Given the description of an element on the screen output the (x, y) to click on. 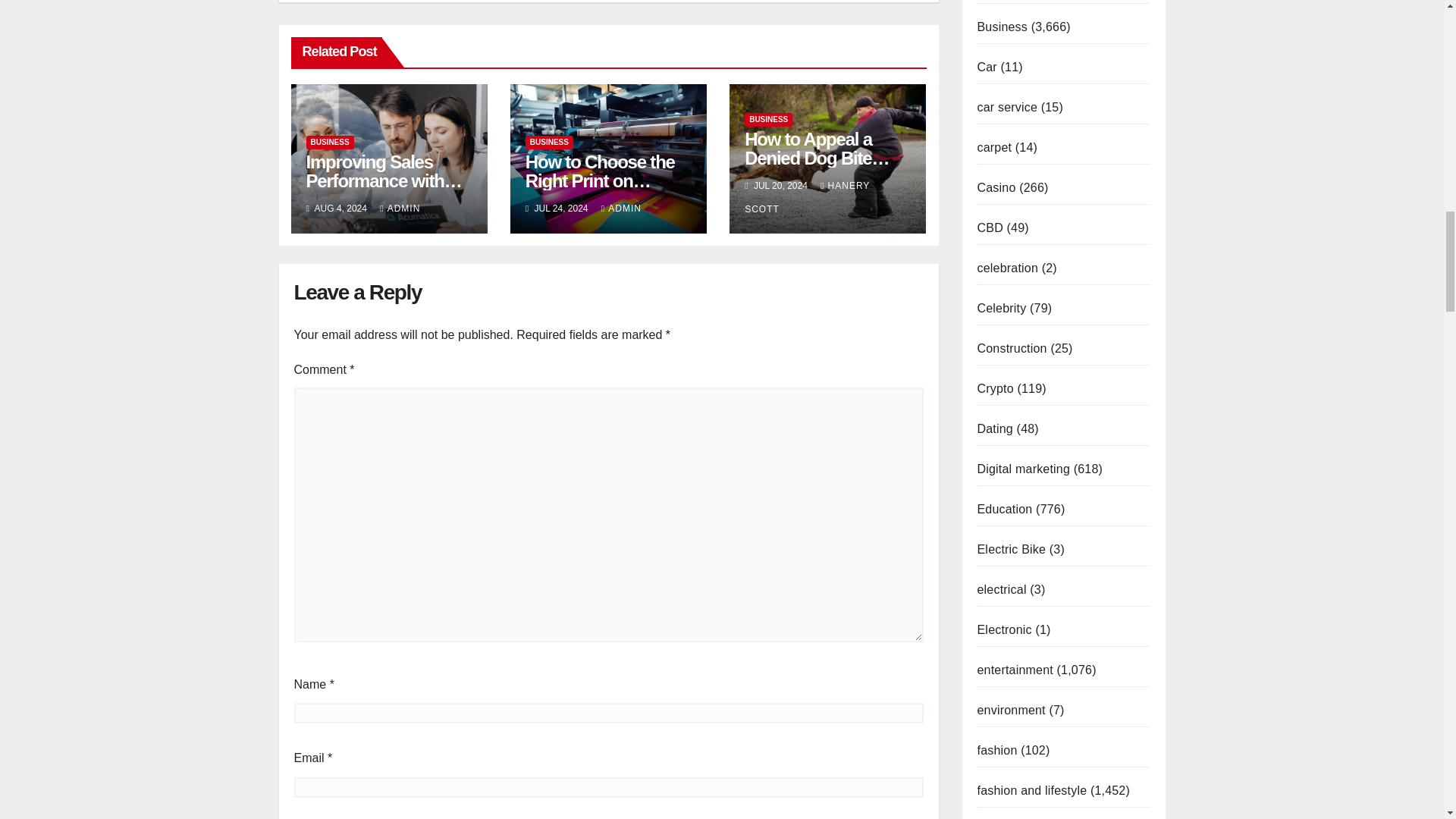
Permalink to: Improving Sales Performance with ERP Acumatica (384, 180)
Improving Sales Performance with ERP Acumatica (384, 180)
ADMIN (400, 208)
BUSINESS (329, 142)
BUSINESS (768, 119)
ADMIN (621, 208)
BUSINESS (549, 142)
